Given the description of an element on the screen output the (x, y) to click on. 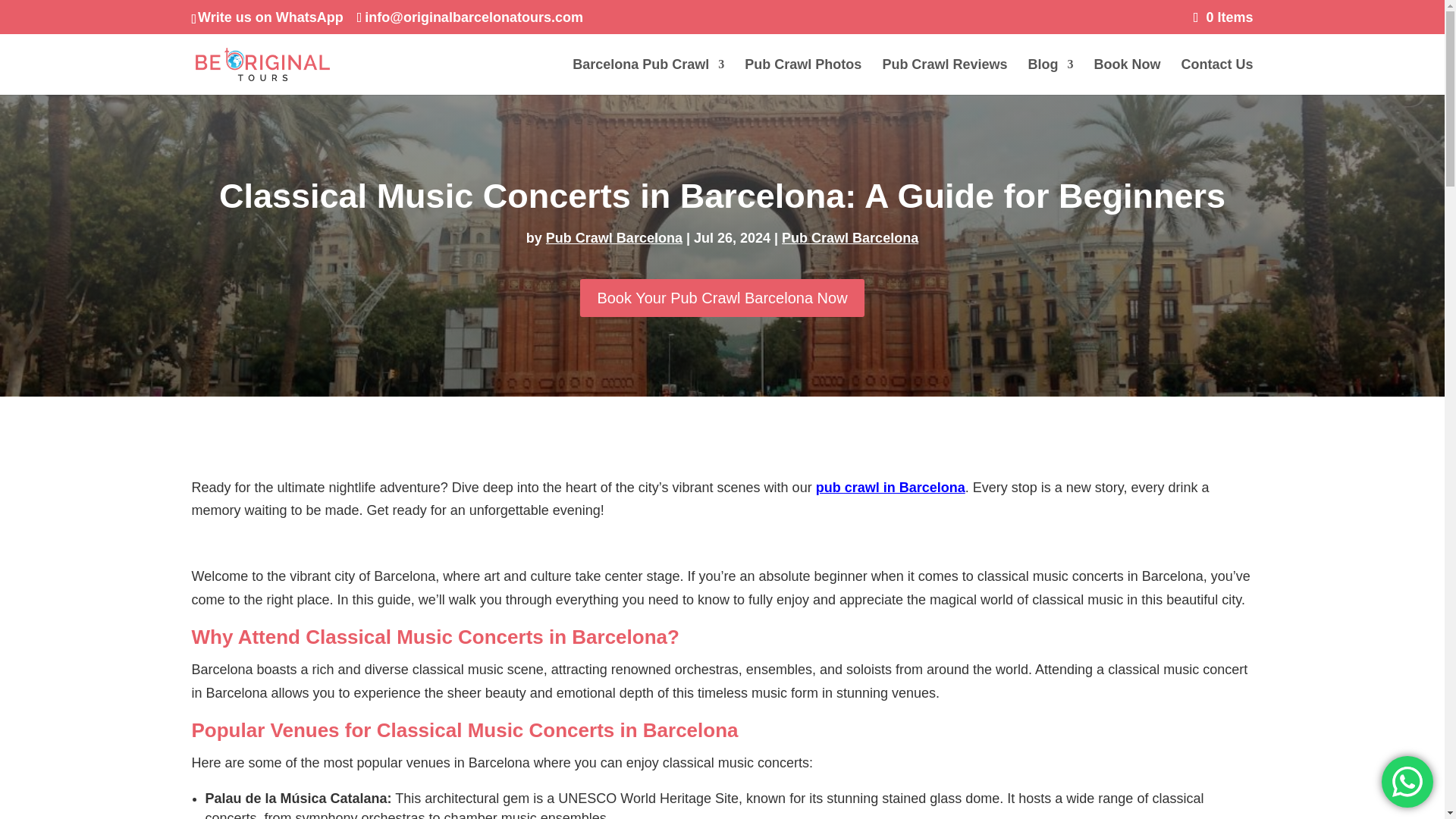
Pub Crawl Barcelona (614, 237)
Pub Crawl Photos (802, 76)
WhatsApp us (1406, 781)
Book Your Pub Crawl Barcelona Now (721, 297)
Pub Crawl Reviews (944, 76)
pub crawl in Barcelona (890, 487)
Write us on WhatsApp (270, 16)
Pub Crawl Barcelona (849, 237)
Blog (1050, 76)
0 Items (1223, 16)
